Given the description of an element on the screen output the (x, y) to click on. 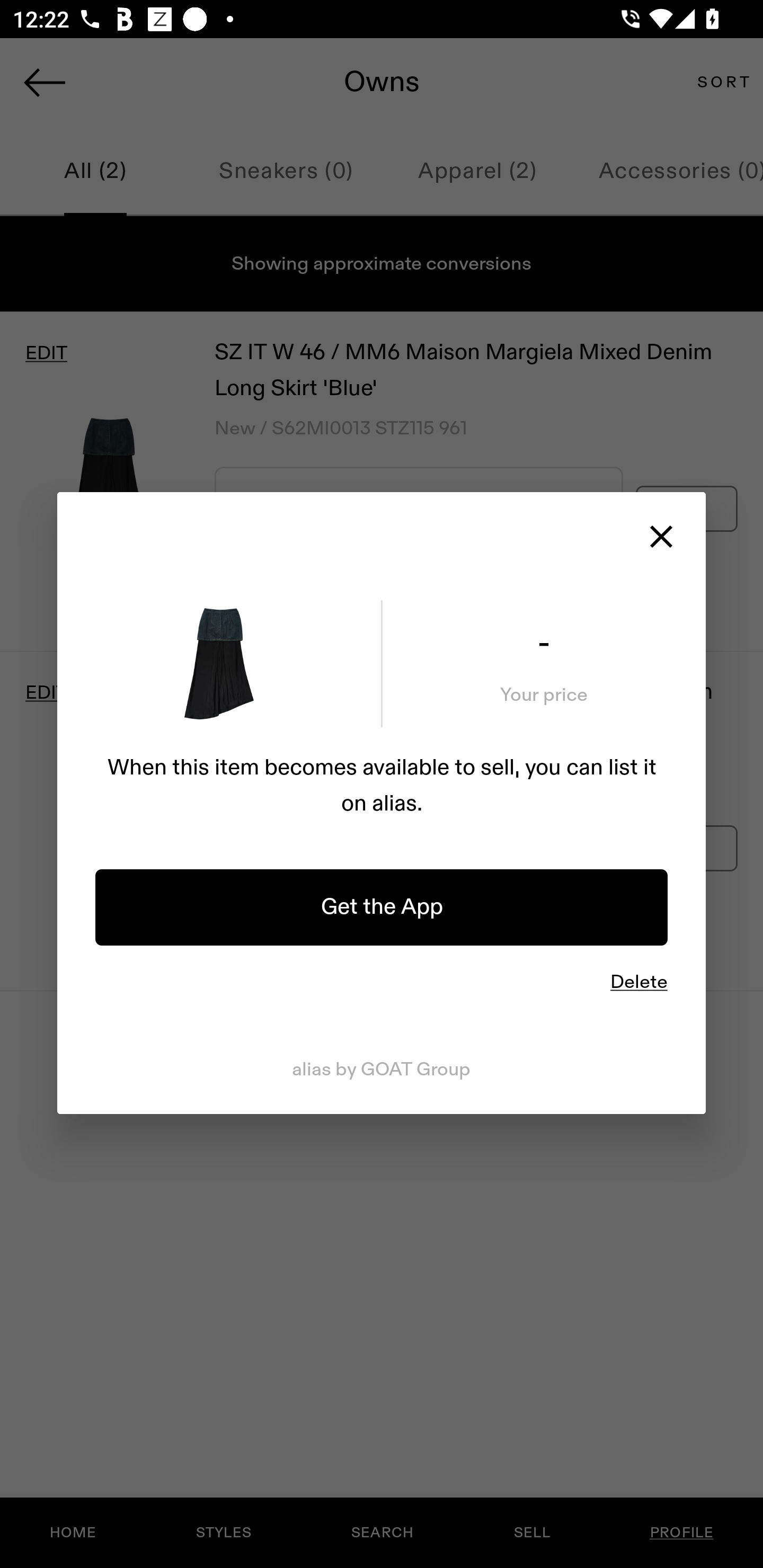
Get the App (381, 906)
Delete (638, 981)
